Given the description of an element on the screen output the (x, y) to click on. 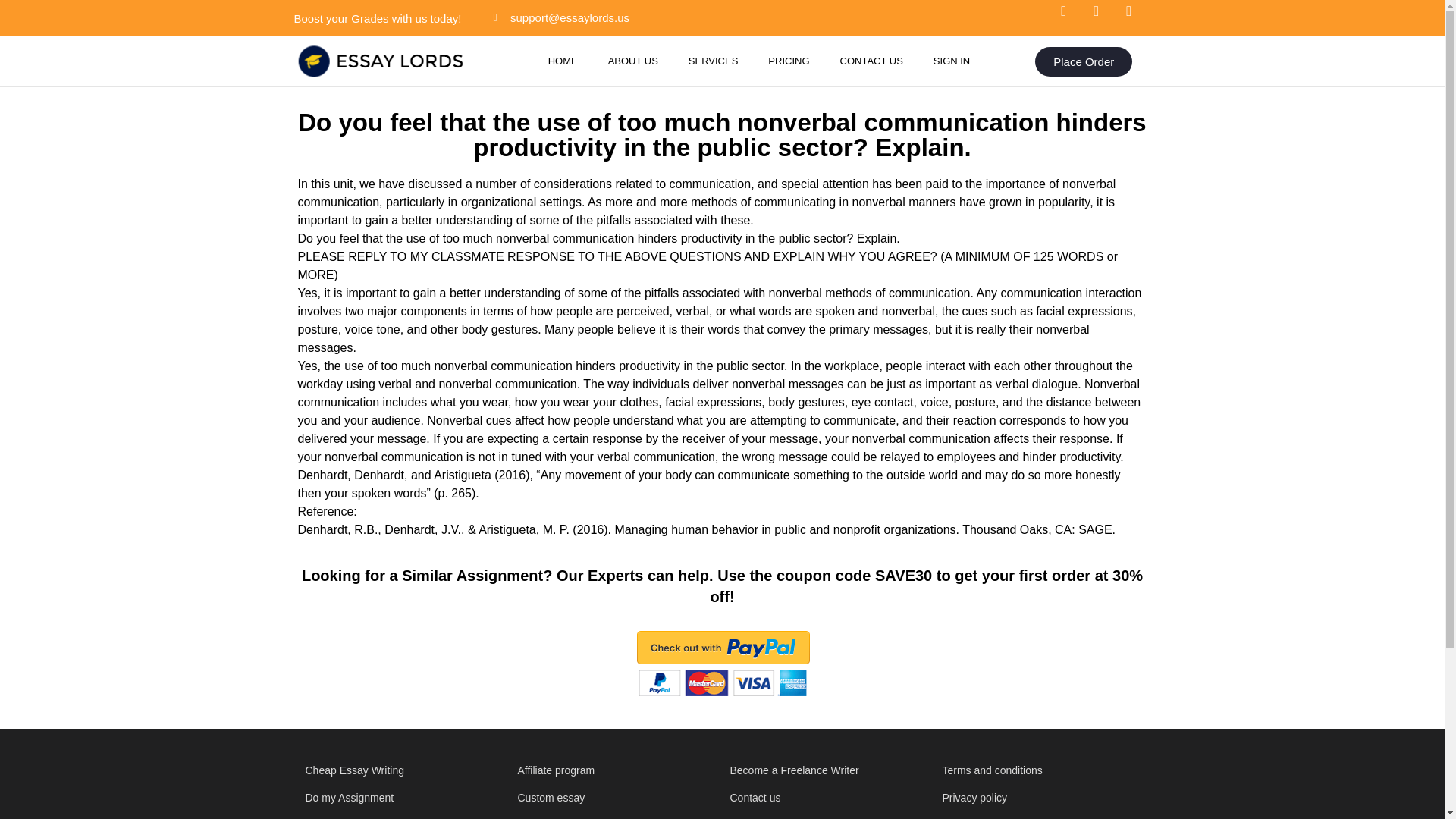
PRICING (788, 61)
HOME (562, 61)
SIGN IN (951, 61)
ABOUT US (632, 61)
Place Order (1083, 61)
SERVICES (713, 61)
CONTACT US (871, 61)
